Given the description of an element on the screen output the (x, y) to click on. 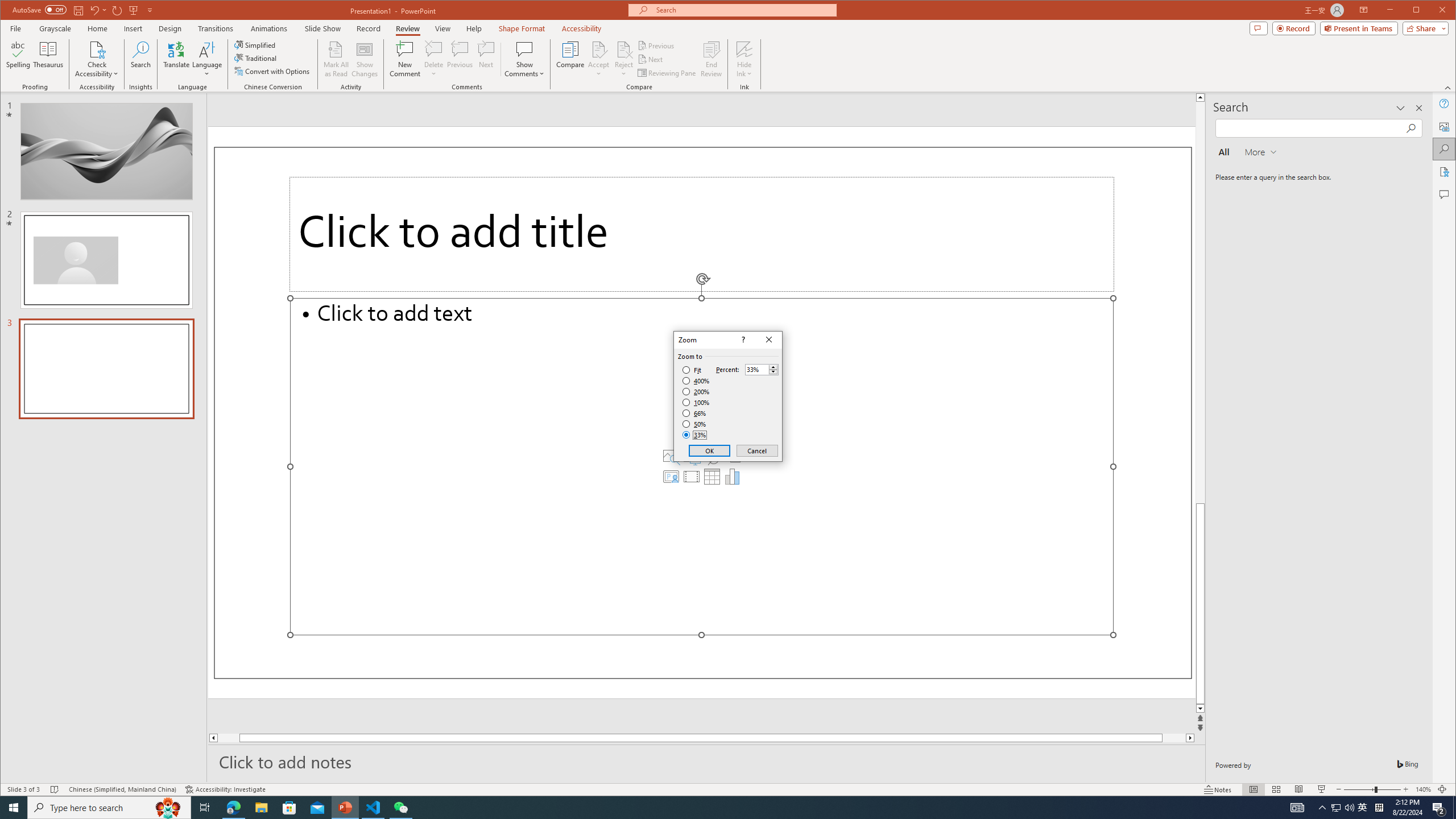
Percent (761, 369)
New Comment (405, 59)
Thesaurus... (48, 59)
400% (696, 380)
Previous (657, 45)
